Given the description of an element on the screen output the (x, y) to click on. 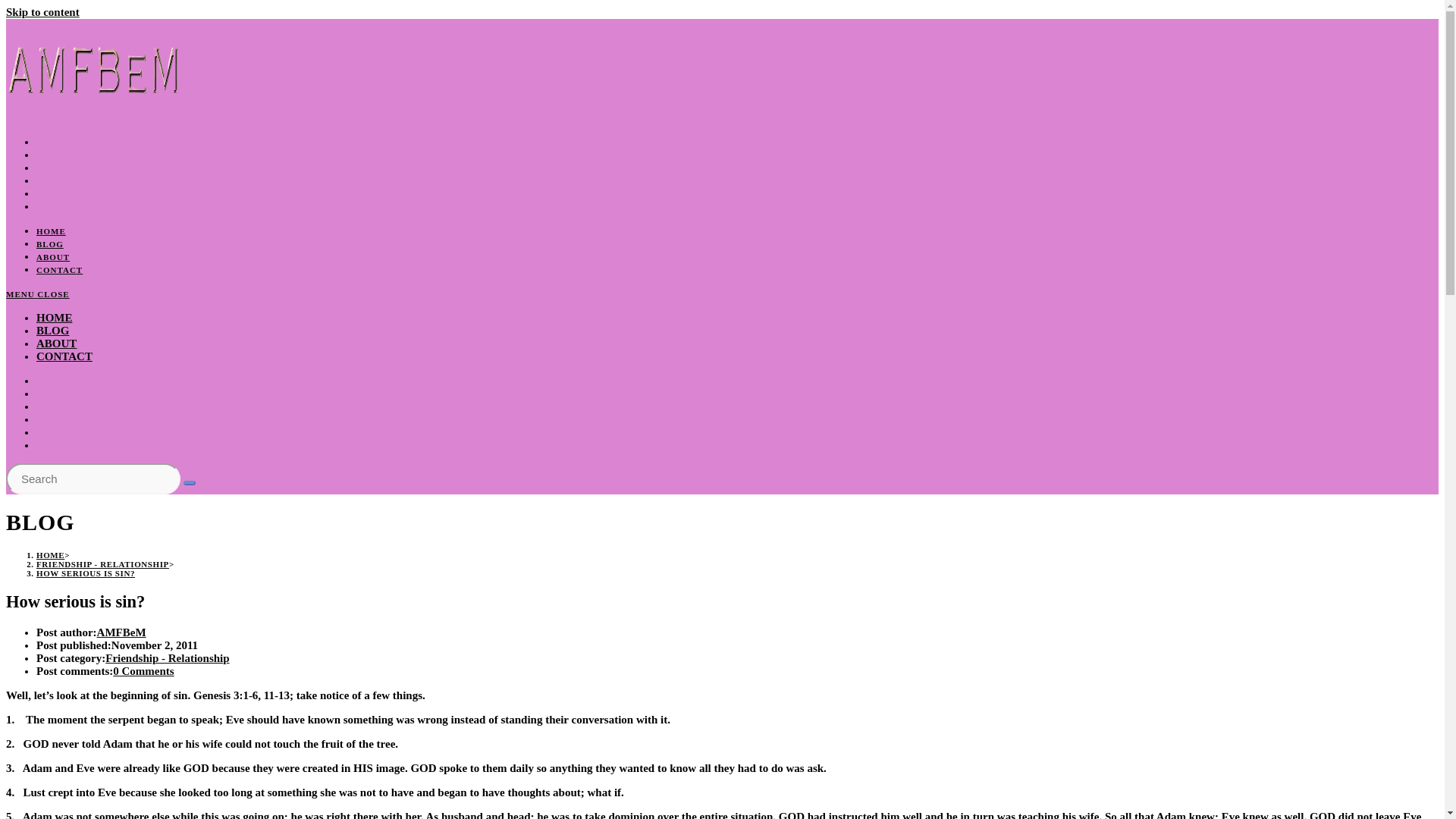
FRIENDSHIP - RELATIONSHIP (102, 563)
HOW SERIOUS IS SIN? (85, 573)
0 Comments (143, 671)
BLOG (52, 330)
CONTACT (59, 269)
HOME (50, 230)
MENU CLOSE (37, 293)
Posts by AMFBeM (122, 632)
Friendship - Relationship (166, 657)
ABOUT (56, 343)
